Given the description of an element on the screen output the (x, y) to click on. 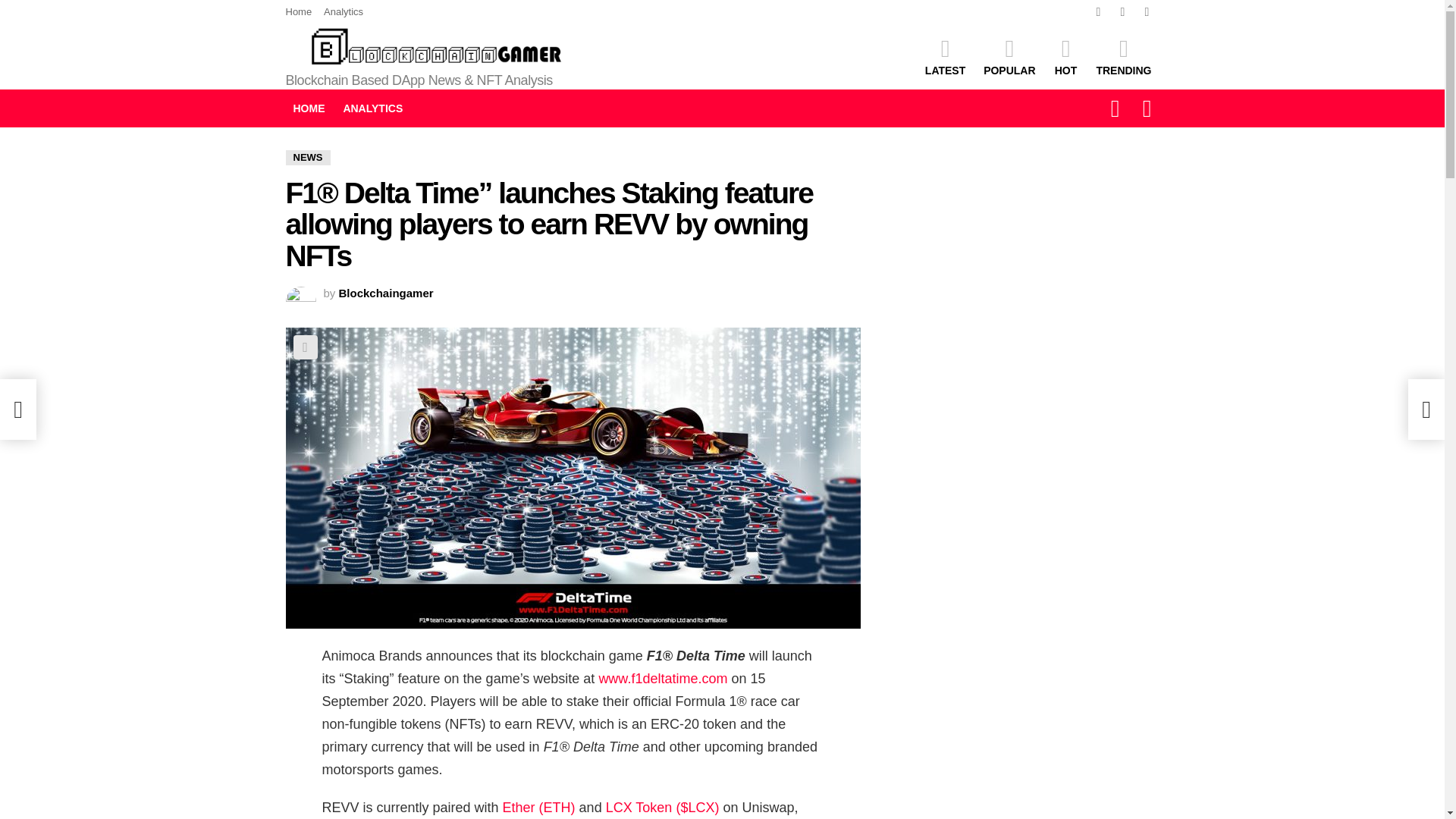
Blockchaingamer (386, 292)
TRENDING (1122, 56)
YouTube (1146, 11)
Analytics (342, 12)
Twitter (1121, 11)
HOME (308, 108)
LATEST (944, 56)
Posts by Blockchaingamer (386, 292)
HOT (1064, 56)
Share (304, 346)
NEWS (307, 157)
POPULAR (1008, 56)
www.f1deltatime.com (662, 678)
ANALYTICS (372, 108)
Instagram (1097, 11)
